Given the description of an element on the screen output the (x, y) to click on. 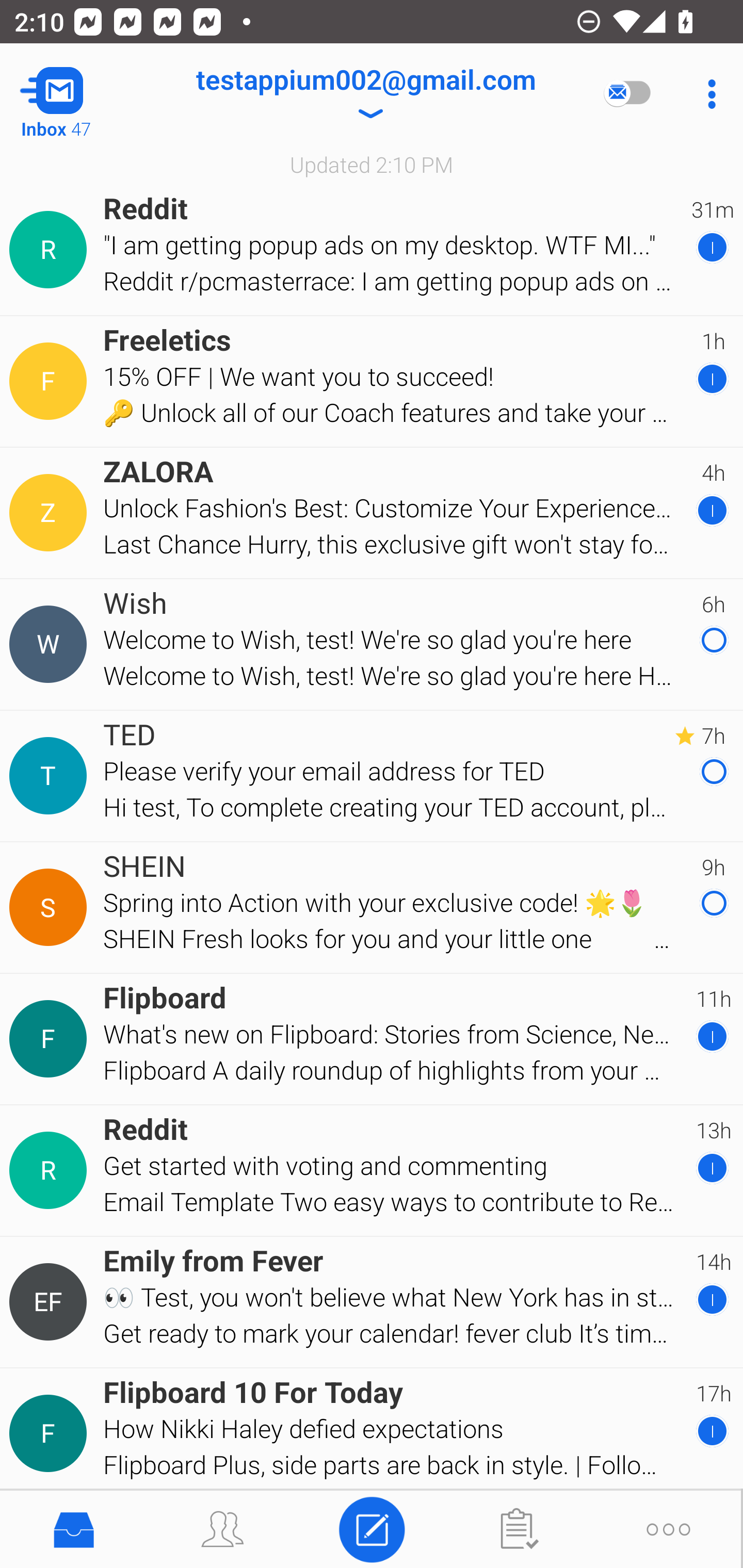
Navigate up (81, 93)
testappium002@gmail.com (365, 93)
More Options (706, 93)
Updated 2:10 PM (371, 164)
Contact Details (50, 250)
Contact Details (50, 381)
Contact Details (50, 513)
Contact Details (50, 644)
Contact Details (50, 776)
Contact Details (50, 907)
Contact Details (50, 1038)
Contact Details (50, 1170)
Contact Details (50, 1302)
Contact Details (50, 1433)
Compose (371, 1528)
